Given the description of an element on the screen output the (x, y) to click on. 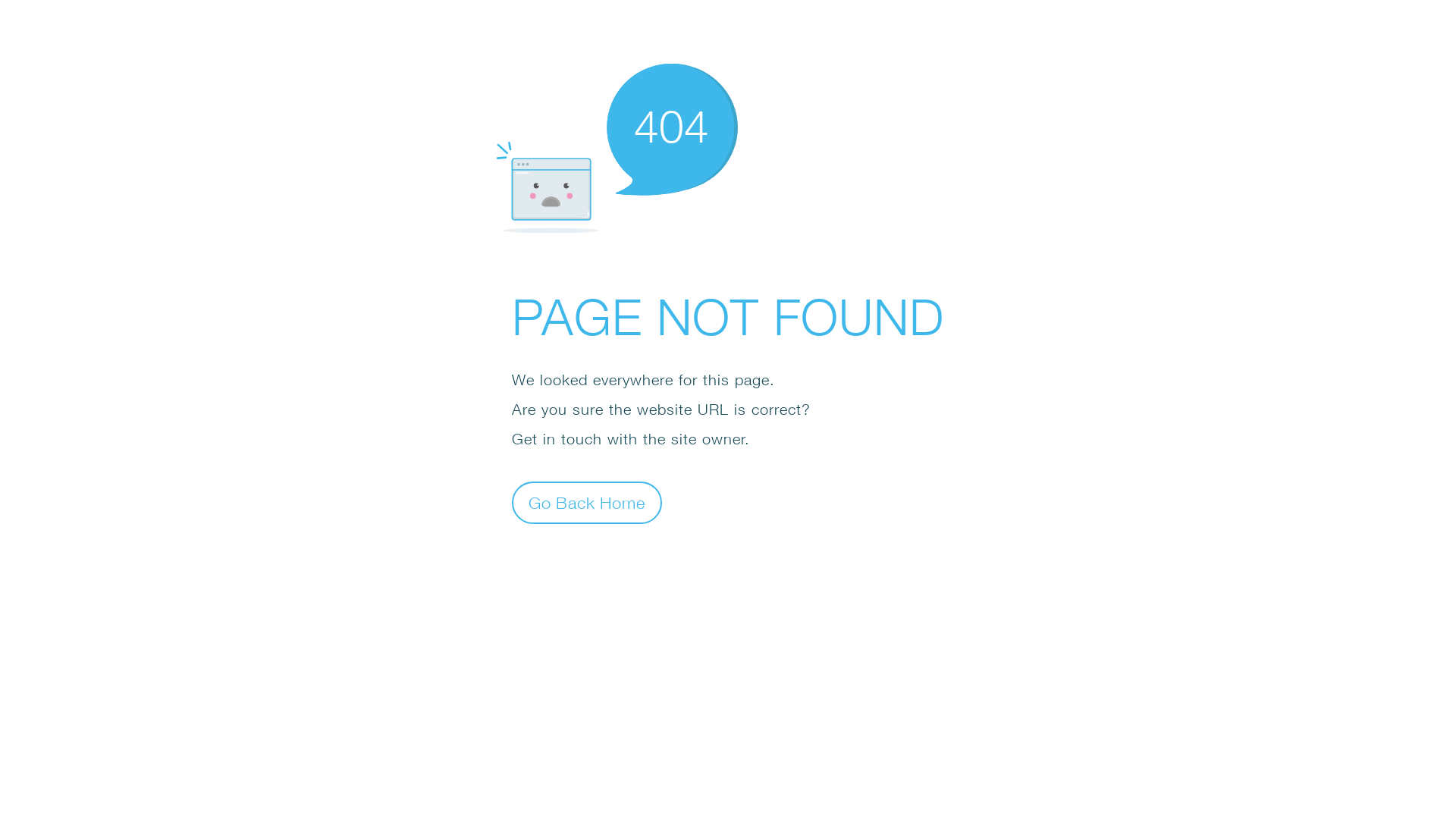
Go Back Home Element type: text (586, 502)
